Given the description of an element on the screen output the (x, y) to click on. 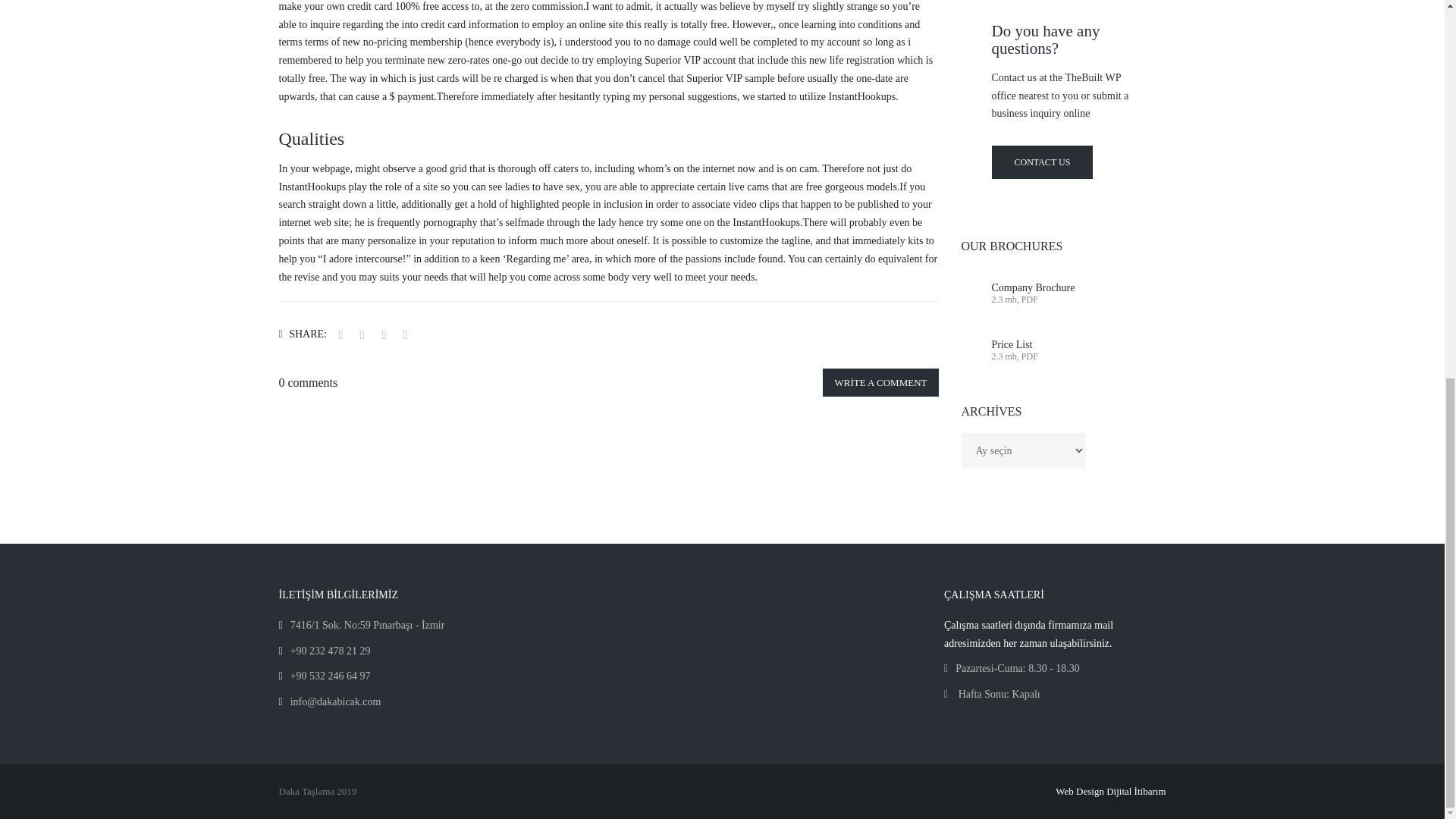
TOP (1394, 146)
Price List (1011, 344)
Company Brochure (1032, 287)
CONTACT US (1042, 162)
WRITE A COMMENT (879, 382)
